Given the description of an element on the screen output the (x, y) to click on. 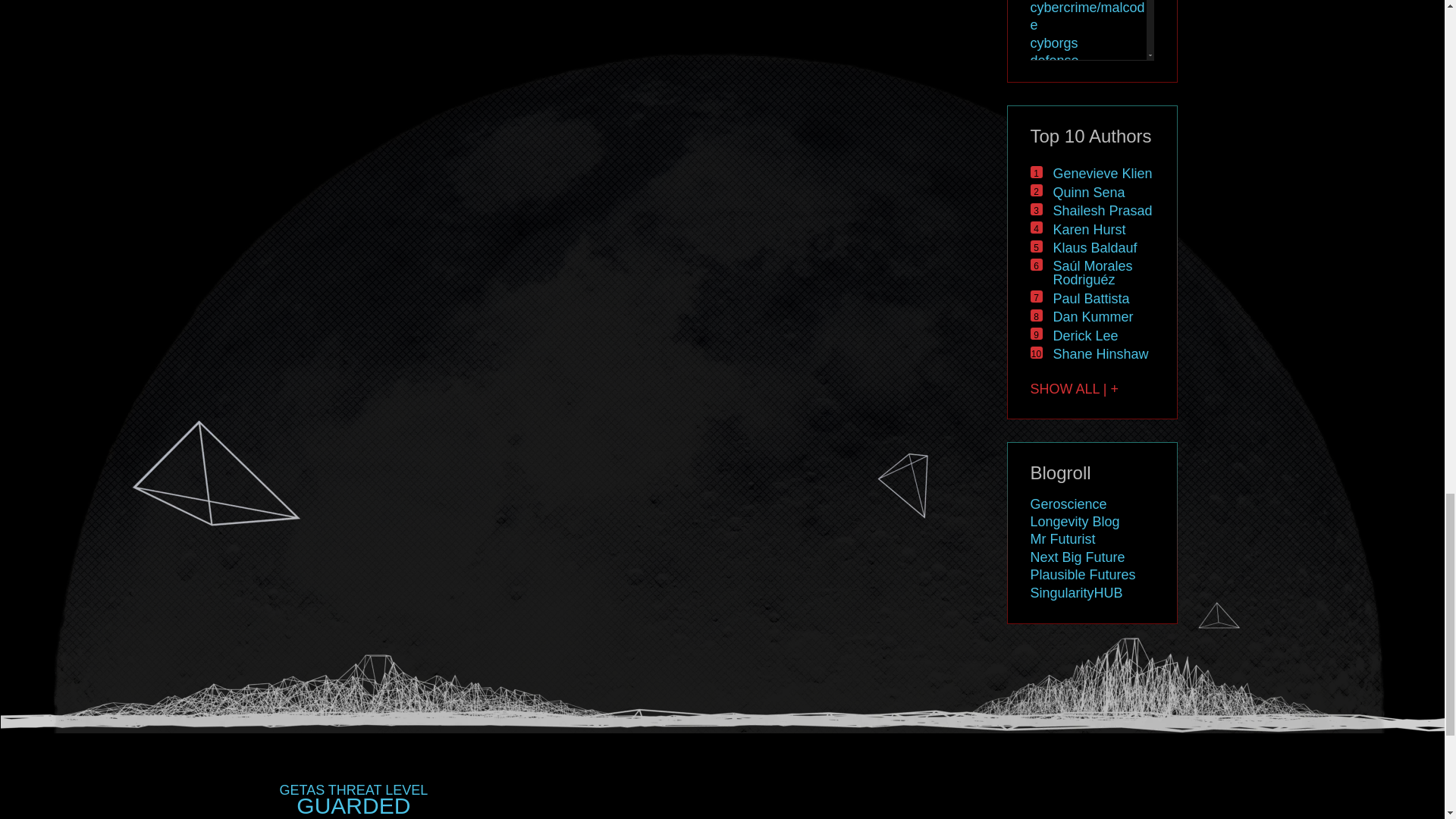
9057 posts by Quinn Sena (1088, 192)
5197 posts by Shailesh Prasad (1101, 210)
2590 posts by Klaus Baldauf (1094, 247)
2091 posts by Paul Battista (1090, 298)
1200 posts by Shane Hinshaw (1100, 353)
1654 posts by Dan Kummer (1092, 316)
1371 posts by Derick Lee (1085, 335)
4292 posts by Karen Hurst (1088, 229)
11714 posts by Genevieve Klien (1101, 173)
